Given the description of an element on the screen output the (x, y) to click on. 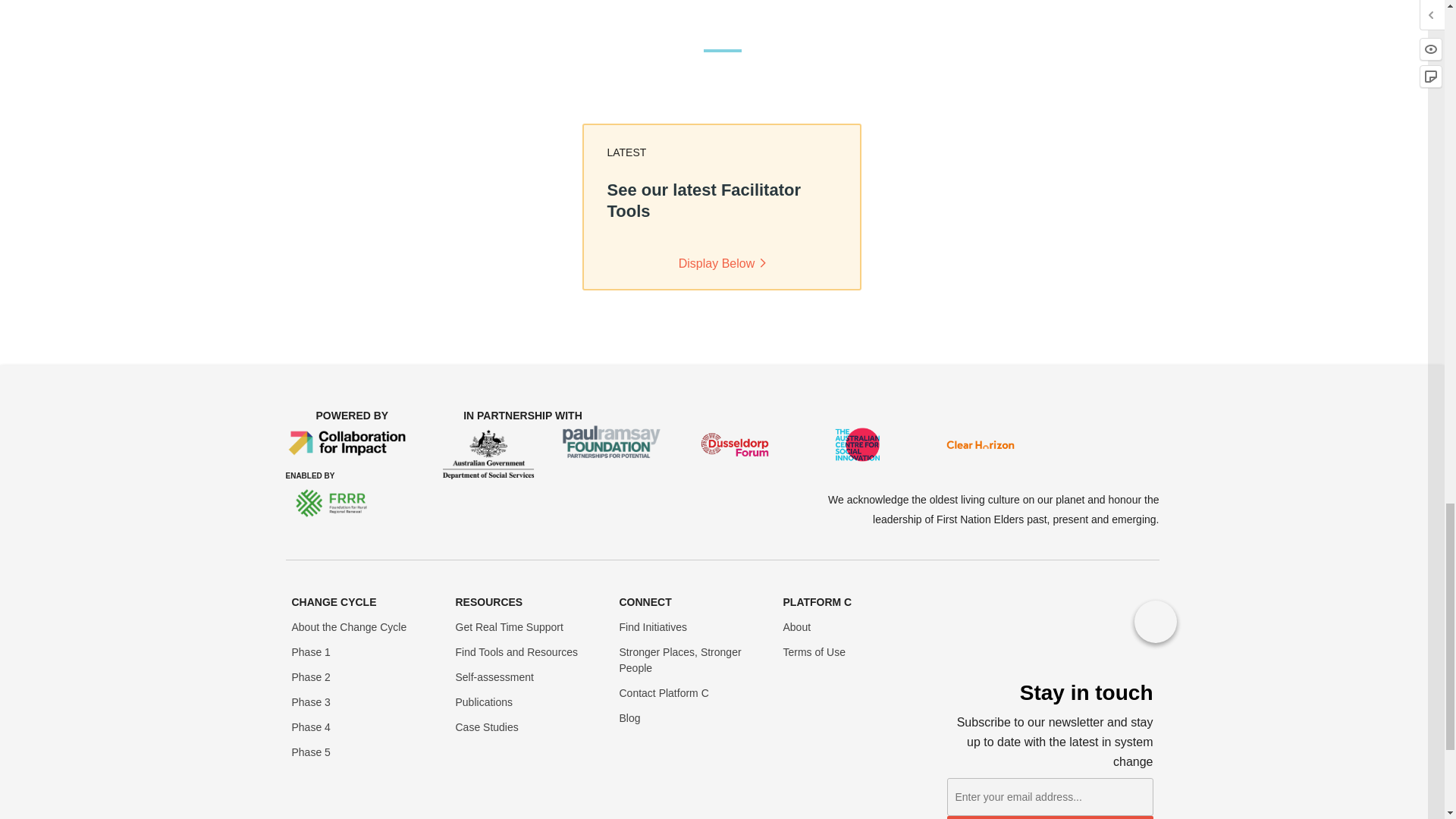
Subscribe (1049, 817)
